Given the description of an element on the screen output the (x, y) to click on. 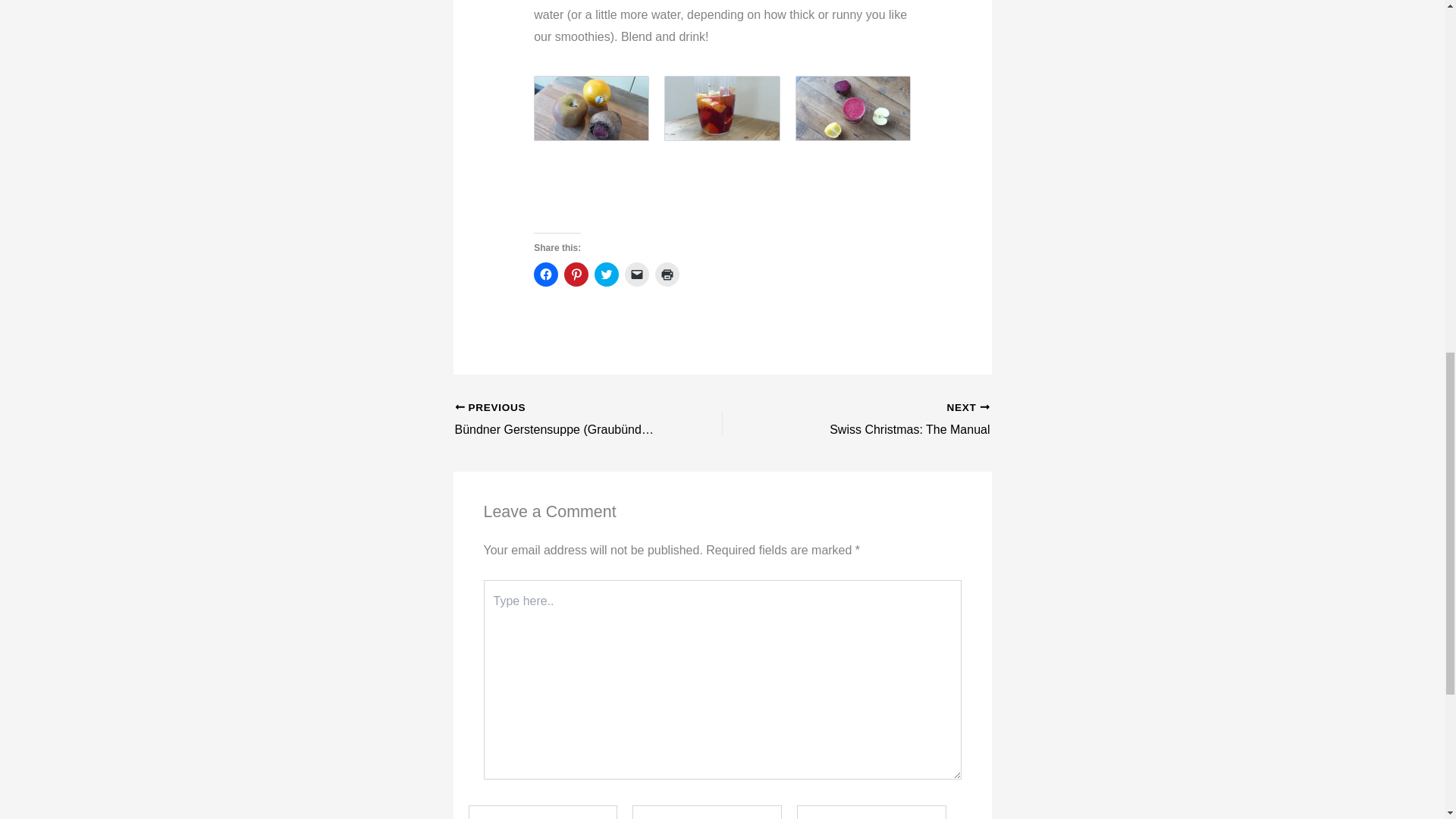
Click to share on Facebook (882, 419)
Click to print (545, 274)
Click to share on Pinterest (667, 274)
Click to share on Twitter (576, 274)
Swiss Christmas: The Manual (606, 274)
Click to email a link to a friend (882, 419)
